Given the description of an element on the screen output the (x, y) to click on. 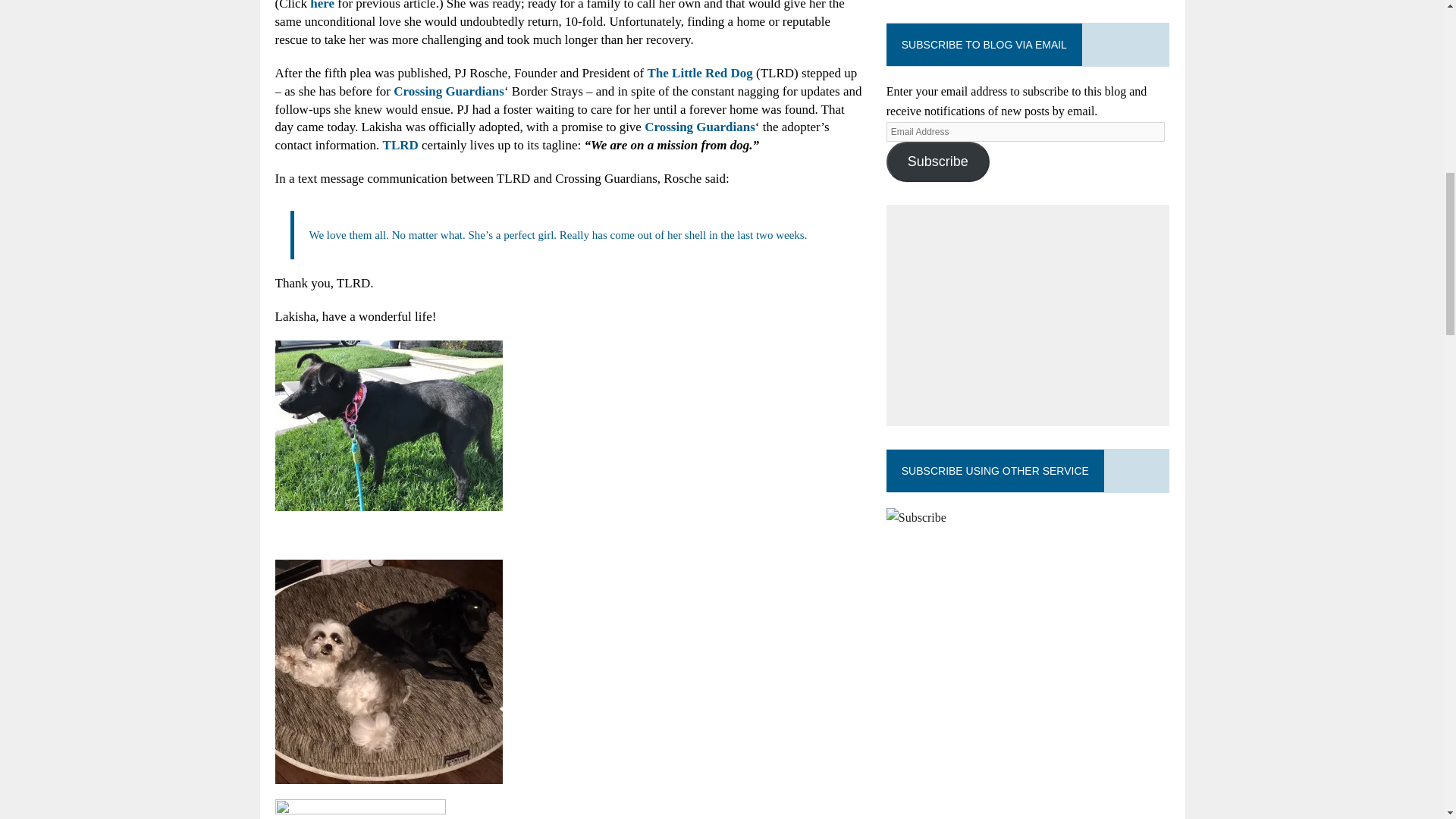
here (322, 5)
TLRD (400, 145)
Crossing Guardians (448, 91)
The Little Red Dog (699, 73)
Crossing Guardians (700, 126)
